Given the description of an element on the screen output the (x, y) to click on. 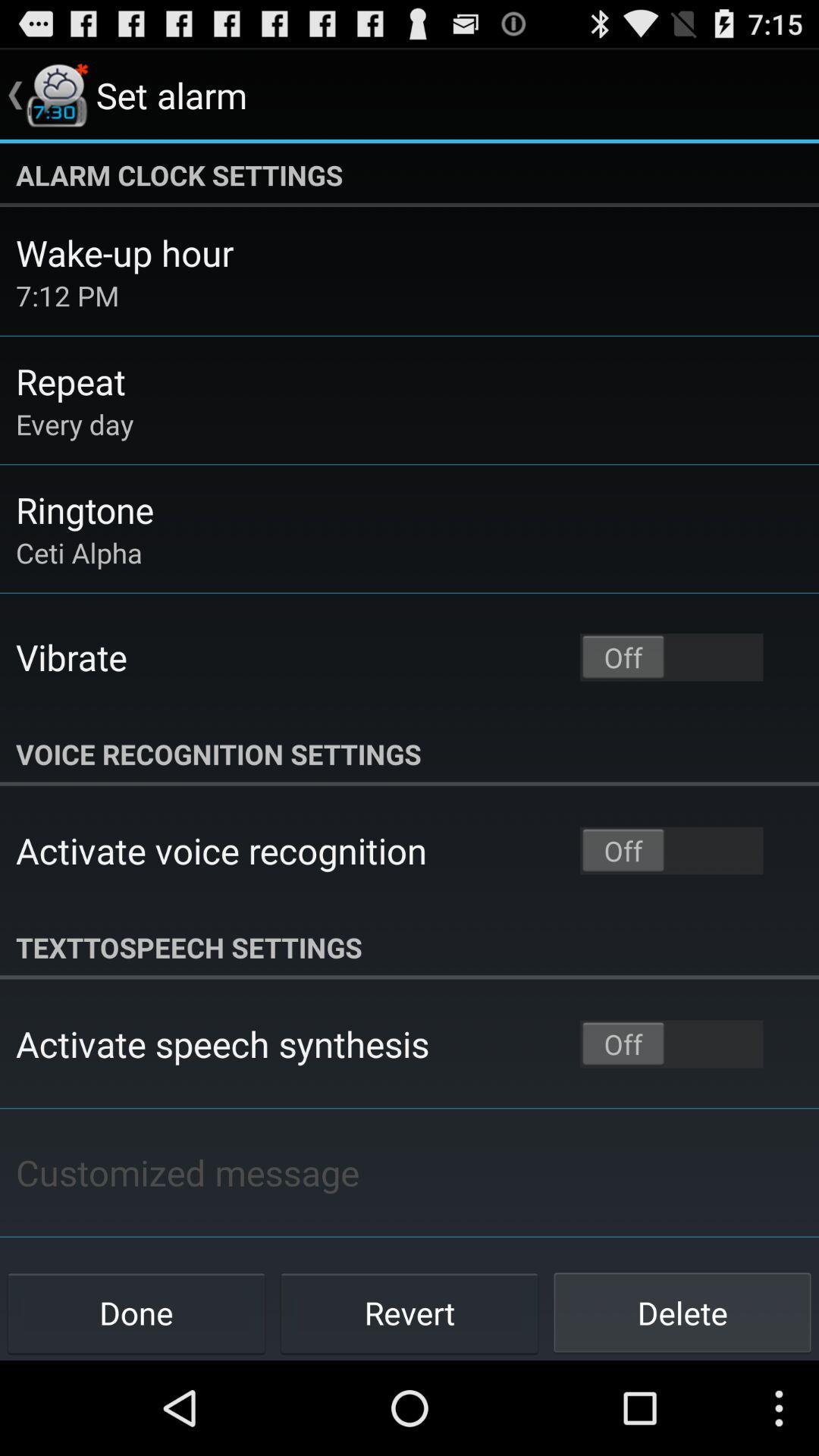
click the item above the done icon (187, 1172)
